Given the description of an element on the screen output the (x, y) to click on. 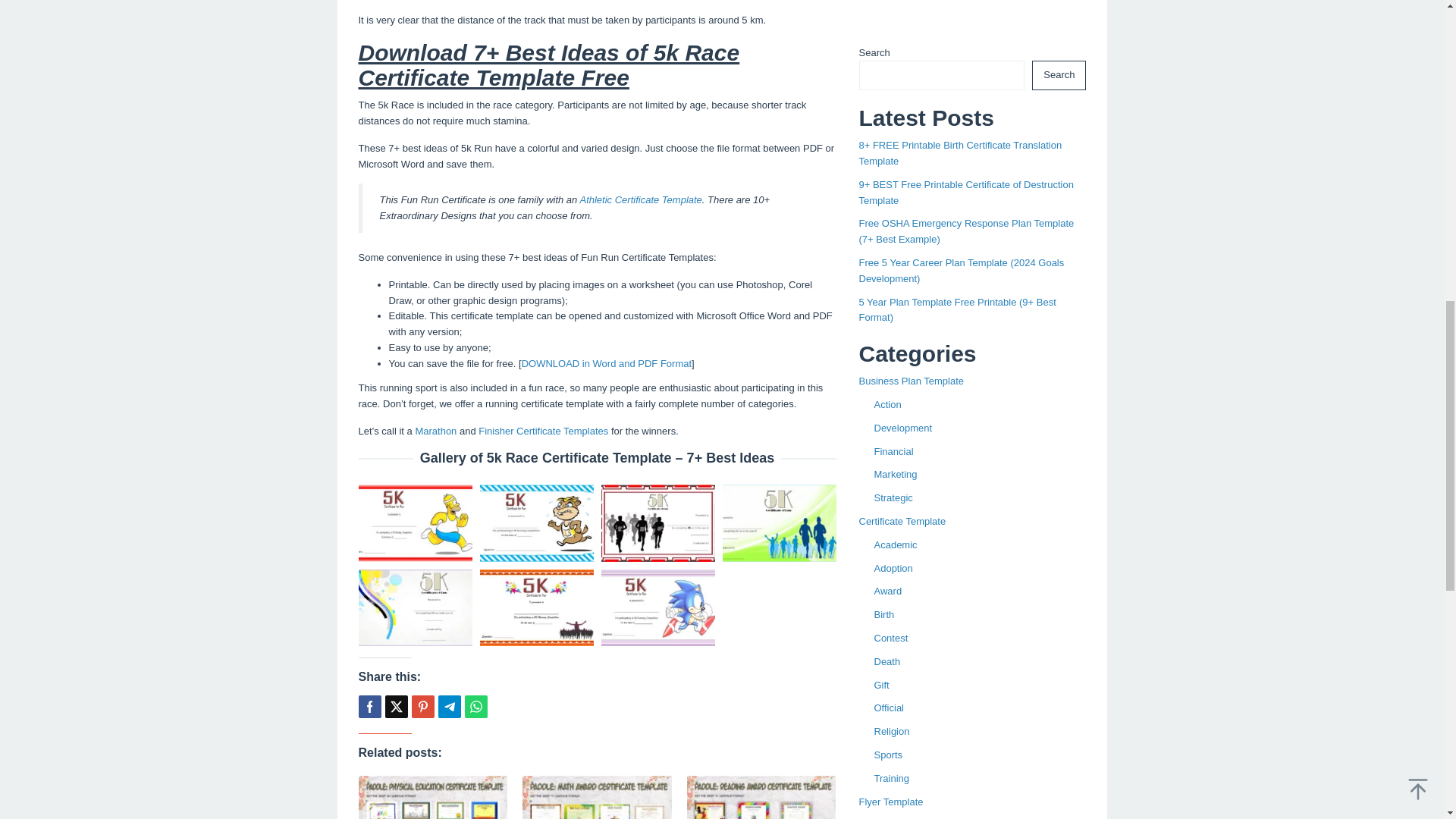
Image for  5K Race Certificate Template (535, 522)
Finisher Certificate Templates (543, 430)
Image for  5K Race Certificate Template 1 (414, 522)
DOWNLOAD in Word and PDF Format (606, 363)
Marathon (435, 430)
Athletic Certificate Template (640, 199)
